Given the description of an element on the screen output the (x, y) to click on. 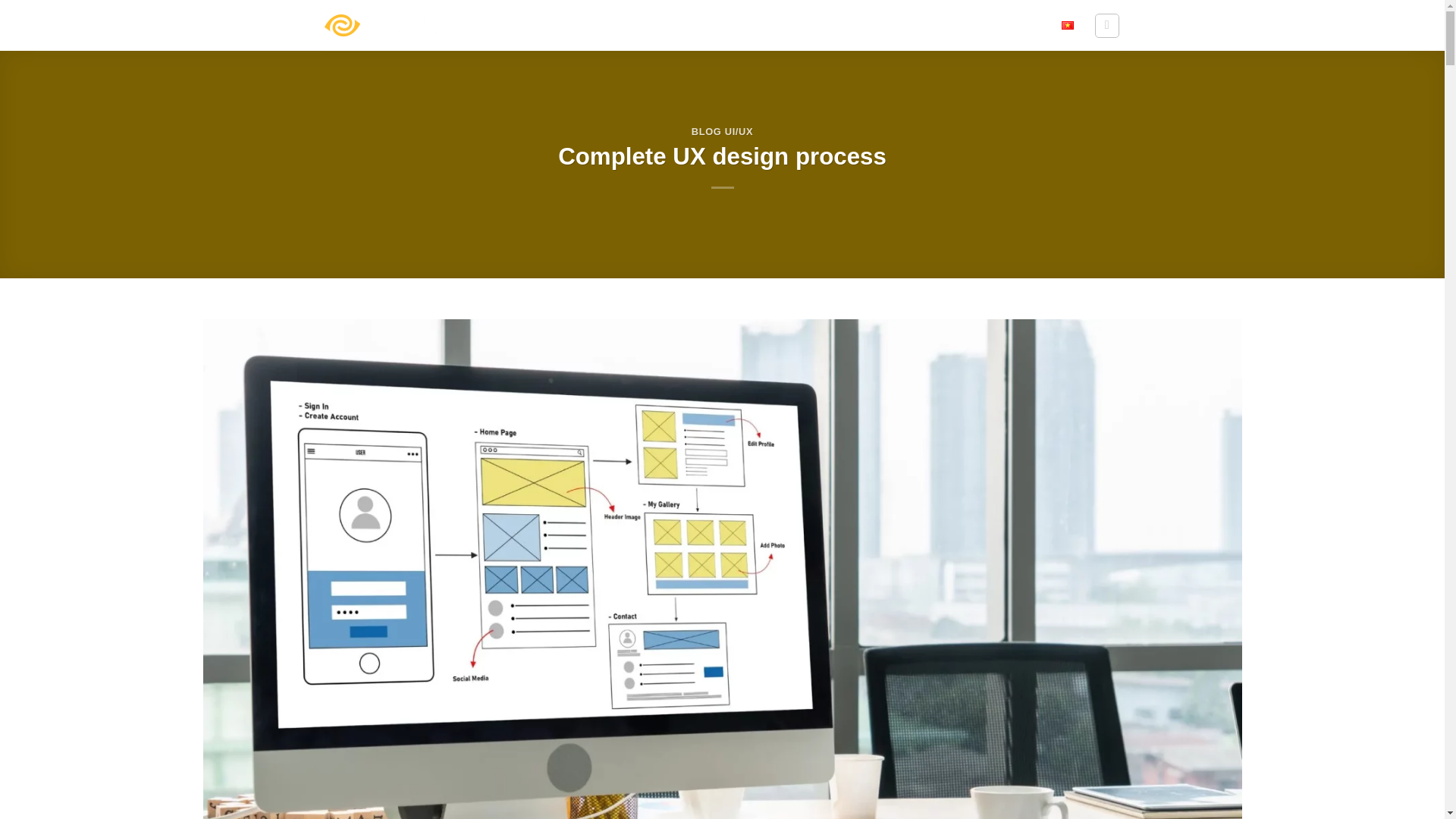
WORK (860, 25)
SERVICES (799, 25)
BLOG (913, 25)
CONTACT (1018, 25)
ABOUT (736, 25)
